Given the description of an element on the screen output the (x, y) to click on. 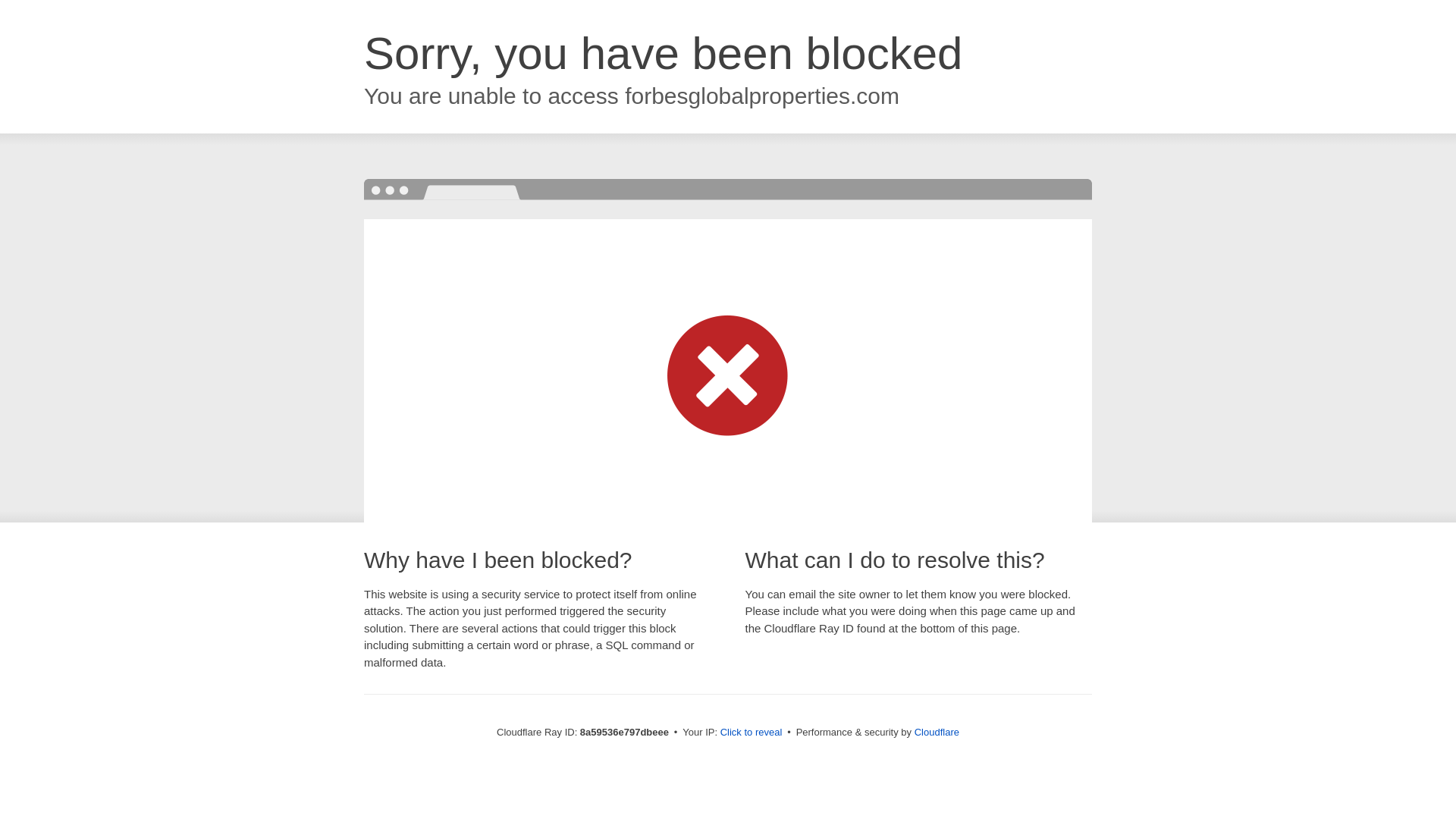
Click to reveal (751, 732)
Cloudflare (936, 731)
